Given the description of an element on the screen output the (x, y) to click on. 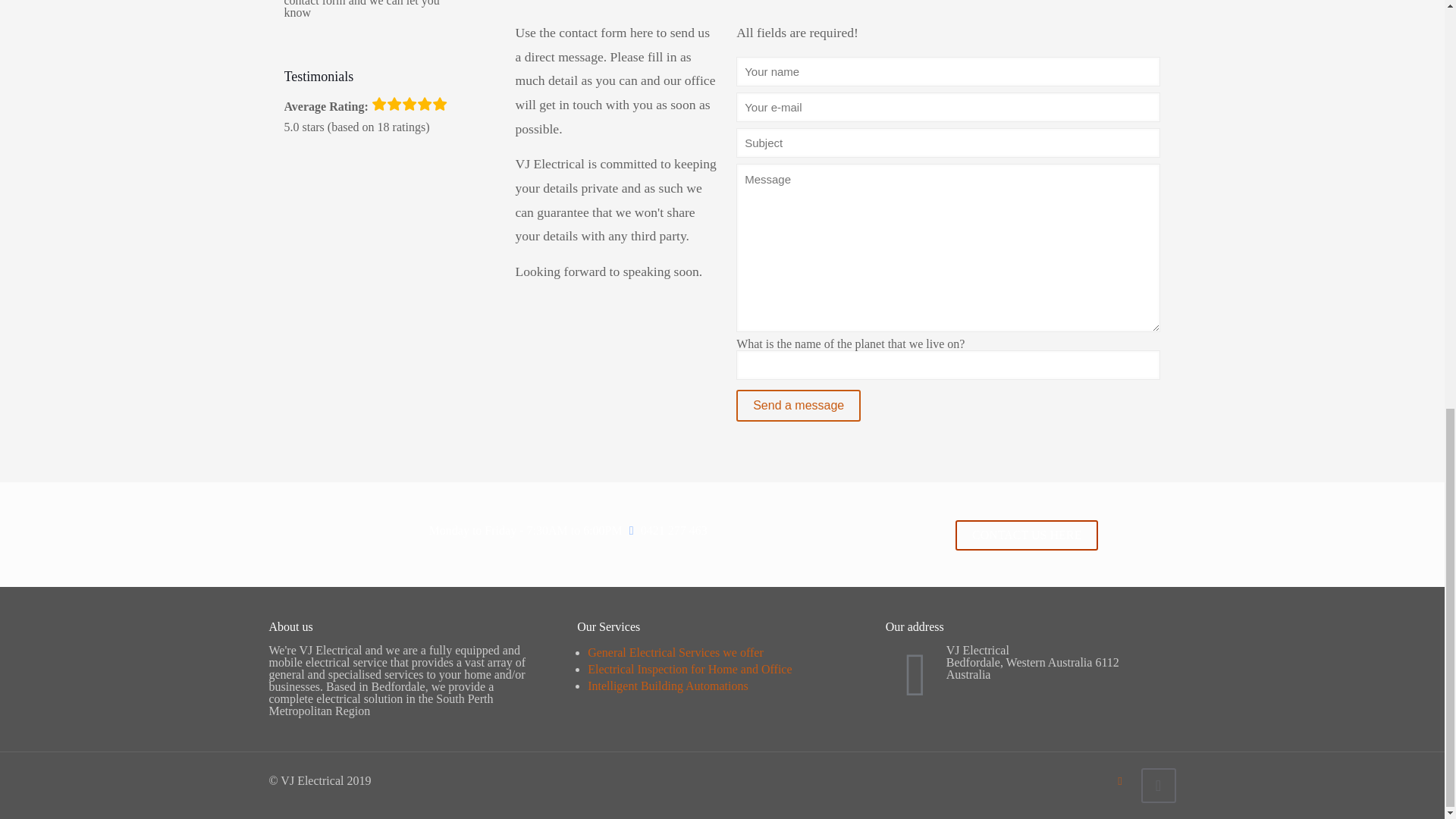
0421 277 463 (672, 530)
Send a message (798, 405)
Electrical Inspection for Home and Office (690, 668)
Facebook (1120, 780)
CONTACT US HERE (1026, 535)
Send a message (798, 405)
General Electrical Services we offer (675, 652)
Intelligent Building Automations (668, 685)
